Given the description of an element on the screen output the (x, y) to click on. 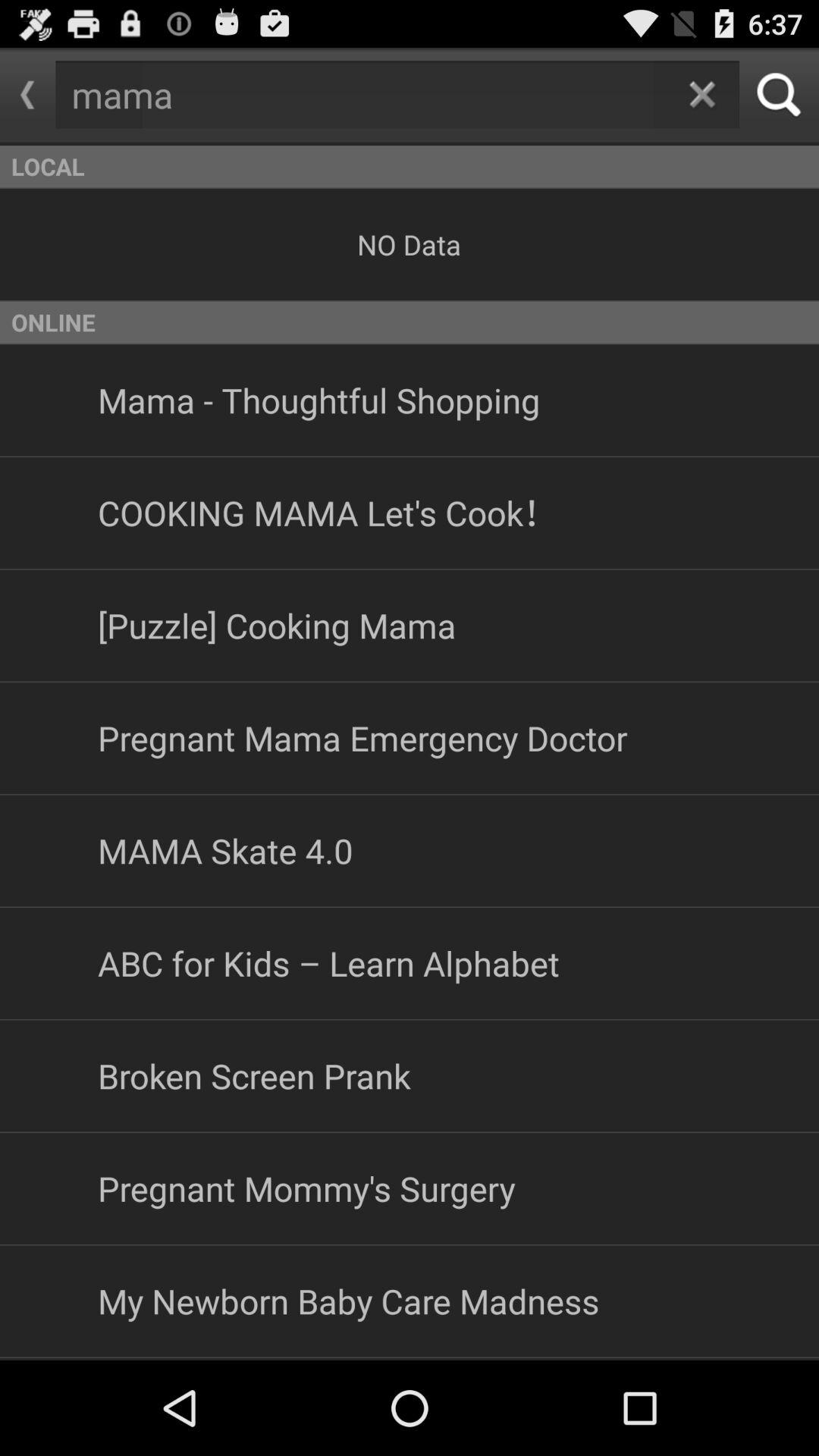
close the app (701, 94)
